Given the description of an element on the screen output the (x, y) to click on. 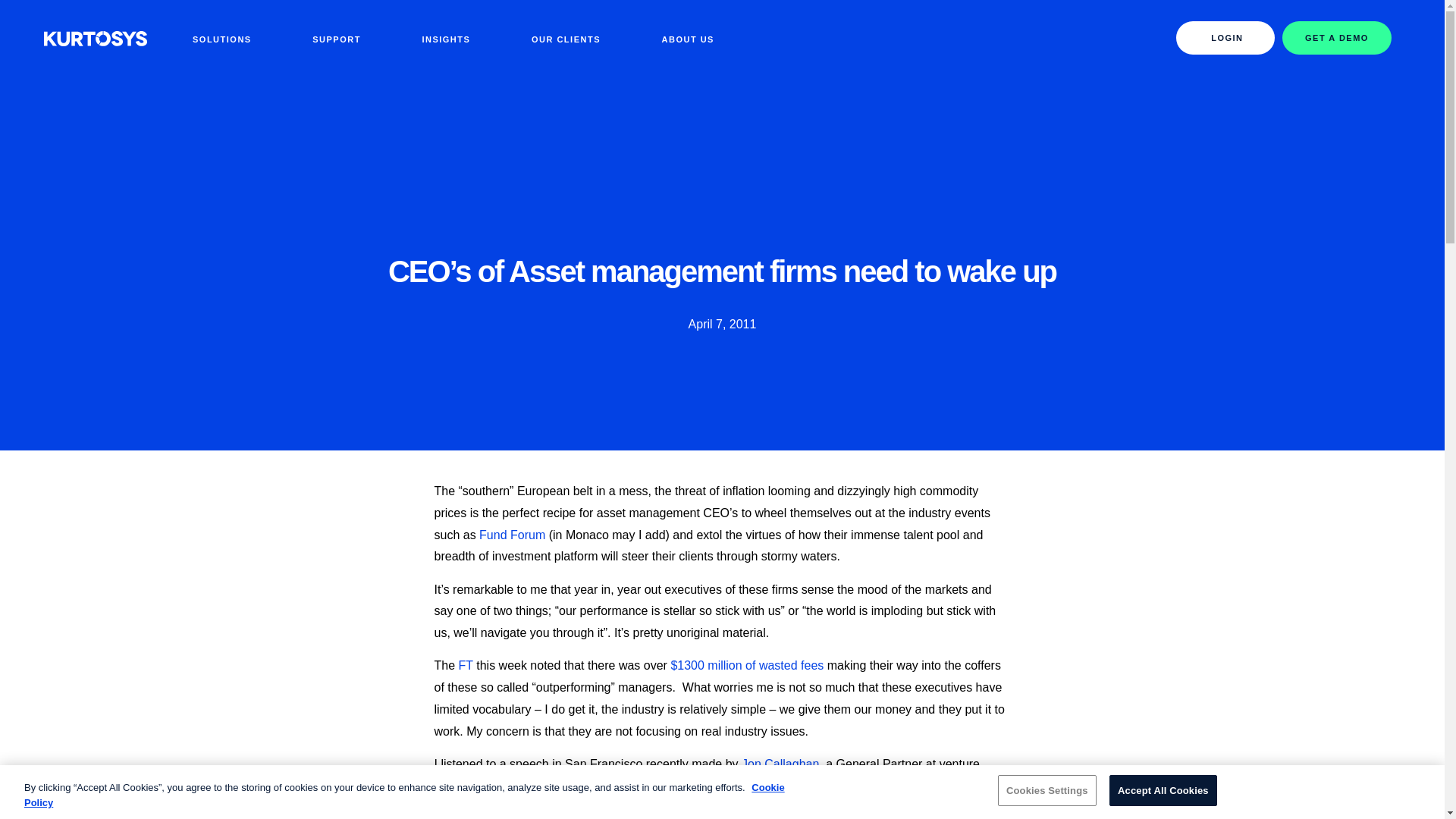
SOLUTIONS (221, 37)
SUPPORT (336, 37)
INSIGHTS (445, 37)
ABOUT US (687, 37)
OUR CLIENTS (565, 37)
